Given the description of an element on the screen output the (x, y) to click on. 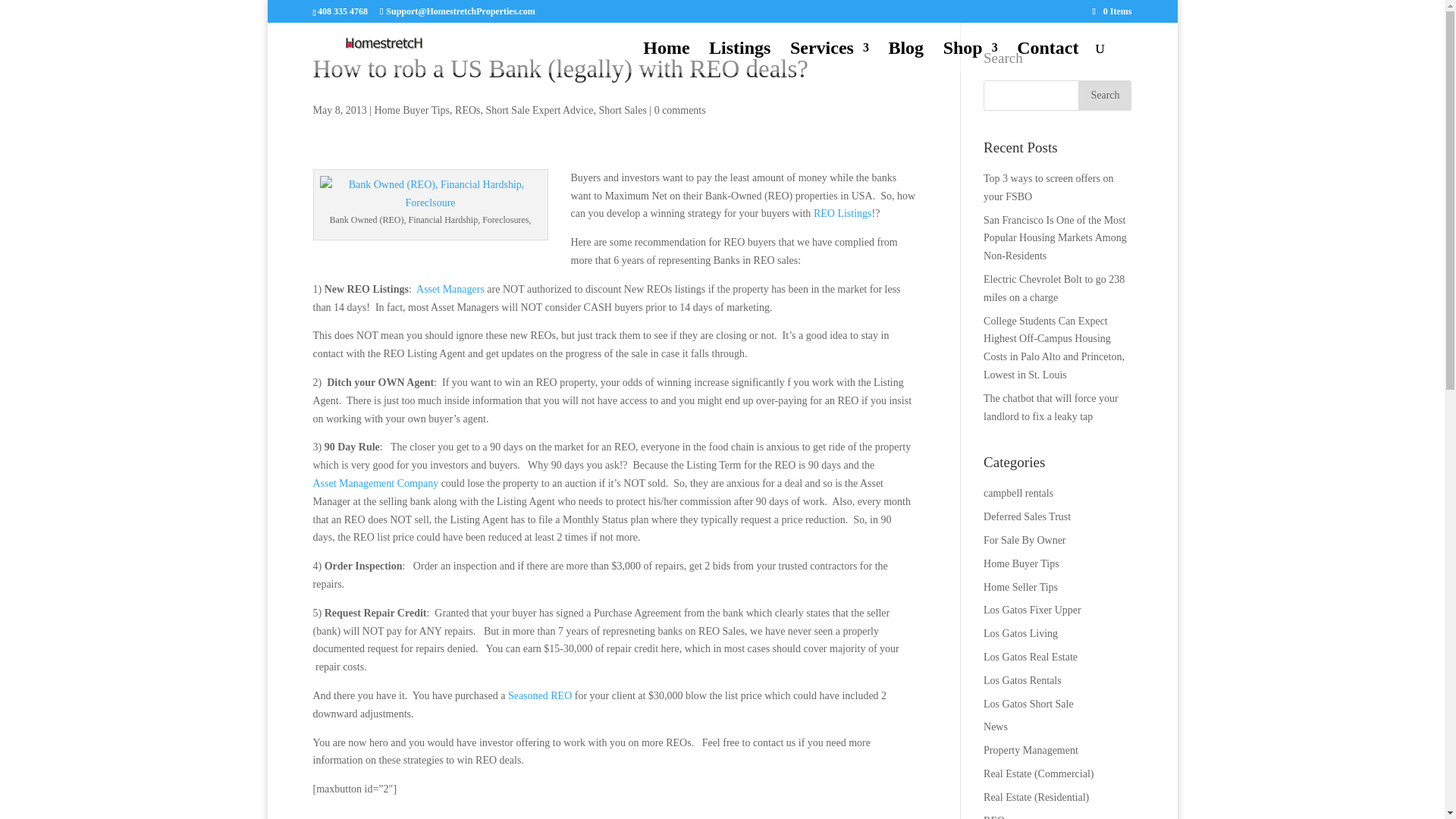
REO Listings (840, 213)
Asset Management Company (375, 482)
Contact (1047, 57)
Shop (970, 57)
REOs (467, 110)
Short Sales (622, 110)
How to find Fixer Uppers for Flips! (540, 695)
Home (665, 57)
REO Listing Agents:  Glorified Gophers for Banks! (451, 288)
Asset Management Company (375, 482)
